Given the description of an element on the screen output the (x, y) to click on. 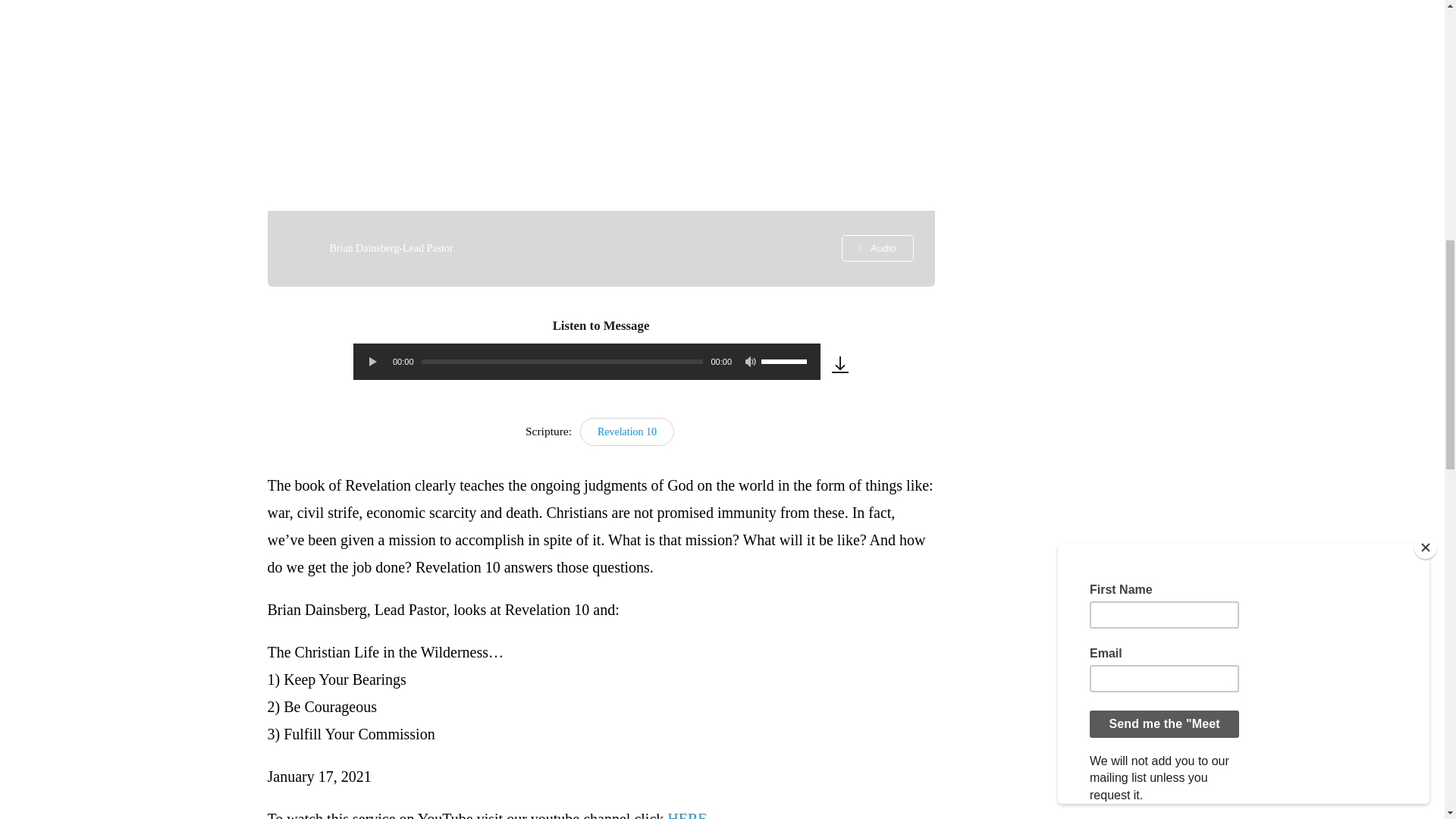
Play (372, 361)
Mute (751, 361)
